Given the description of an element on the screen output the (x, y) to click on. 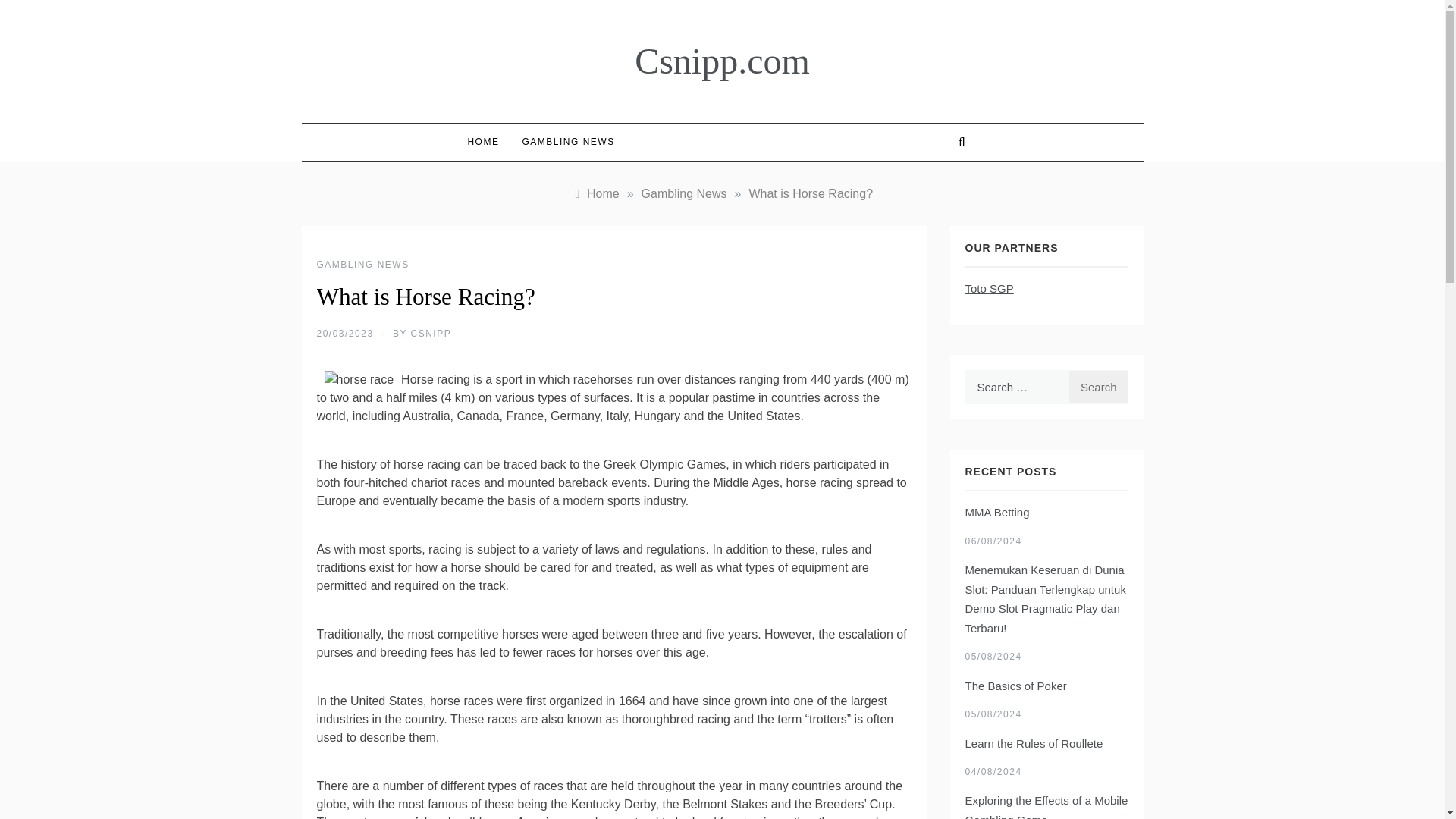
MMA Betting (996, 512)
Search (1098, 387)
HOME (486, 141)
GAMBLING NEWS (363, 264)
Gambling News (684, 193)
Search (1098, 387)
Home (596, 193)
What is Horse Racing? (810, 193)
Learn the Rules of Roullete (1032, 743)
The Basics of Poker (1014, 685)
